Given the description of an element on the screen output the (x, y) to click on. 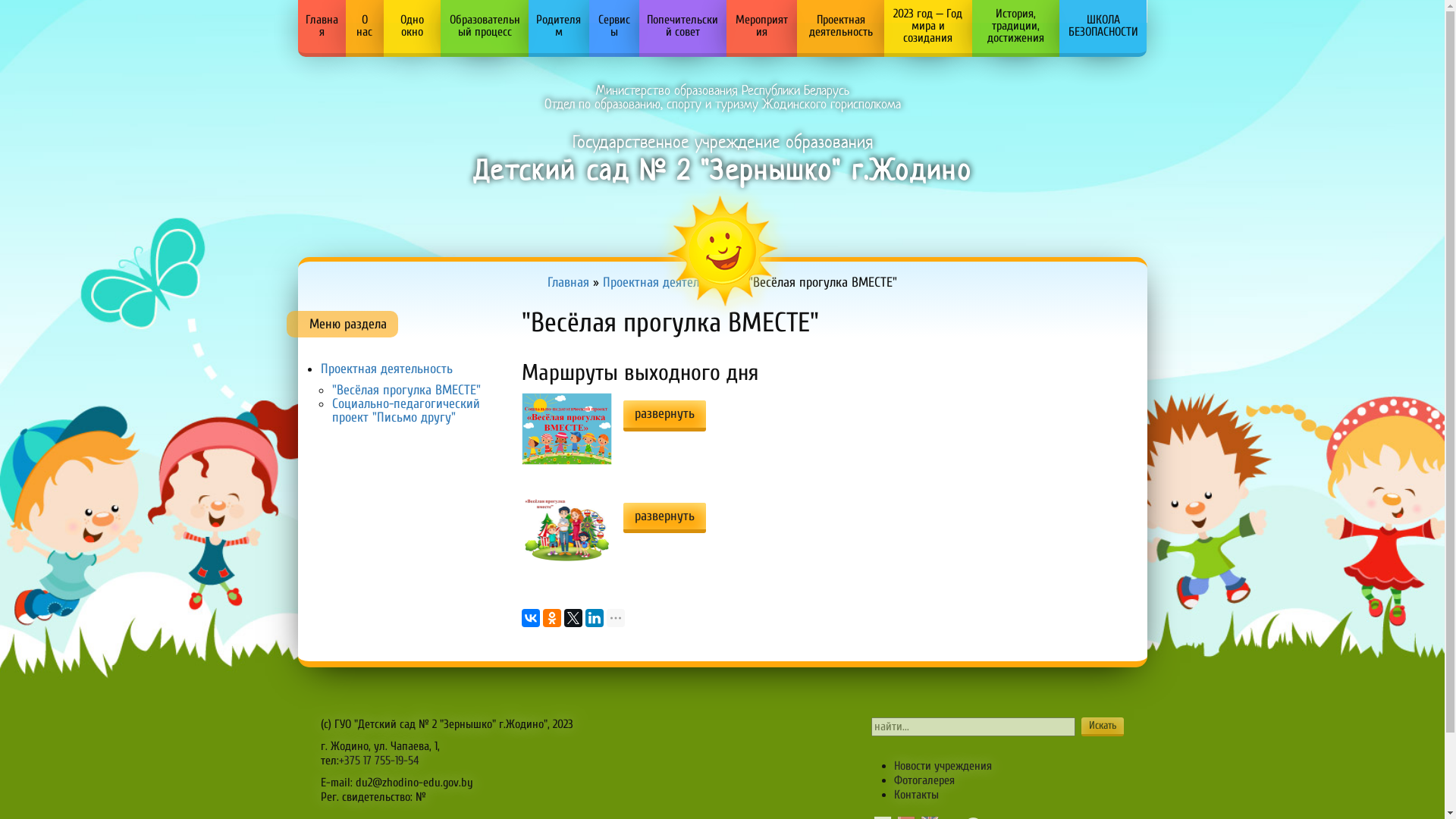
Twitter Element type: hover (573, 617)
+375 17 755-19-54 Element type: text (378, 760)
LinkedIn Element type: hover (594, 617)
